Given the description of an element on the screen output the (x, y) to click on. 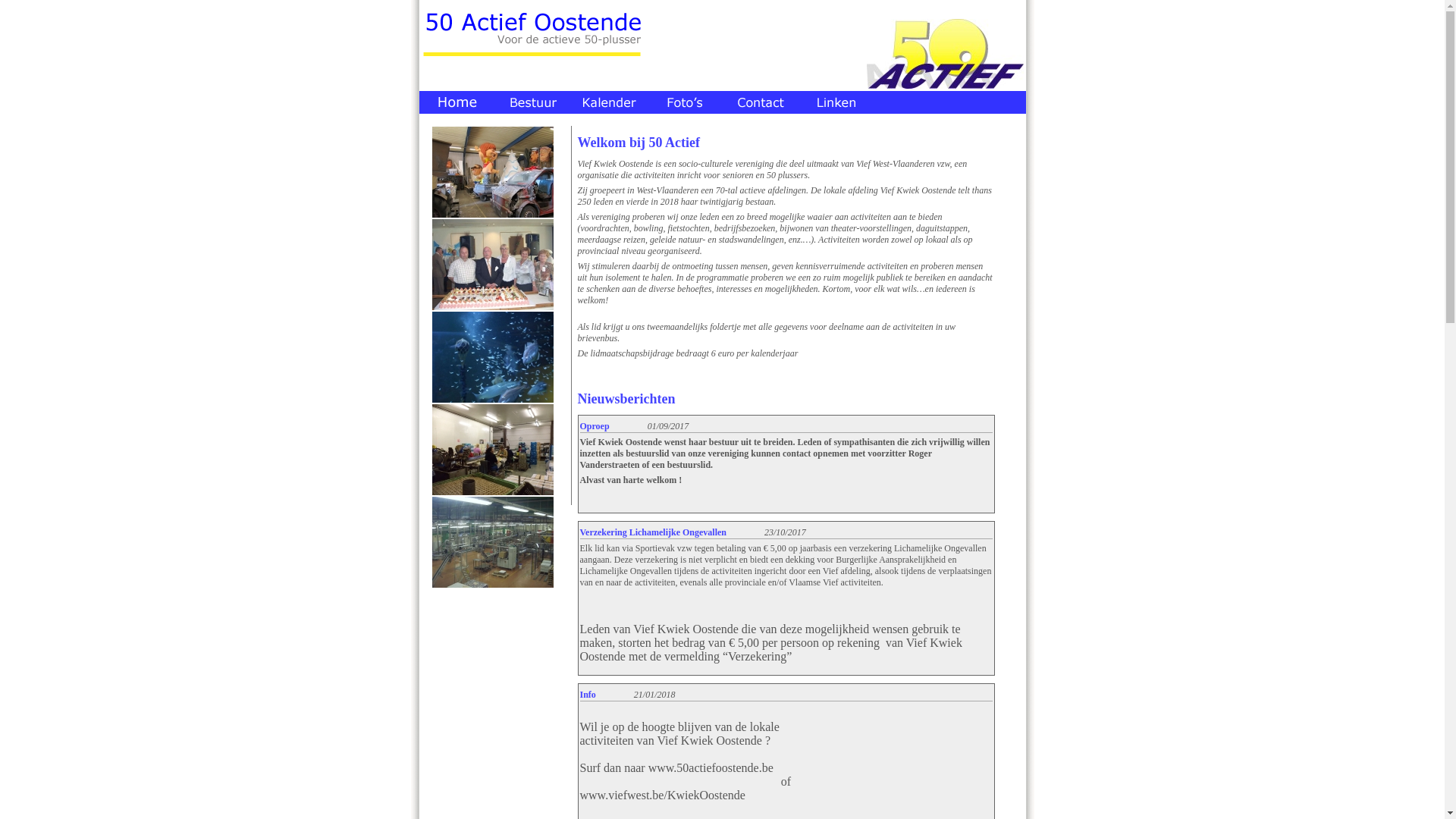
  Element type: text (683, 102)
  Element type: text (759, 102)
  Element type: text (532, 102)
  Element type: text (456, 102)
  Element type: text (835, 102)
  Element type: text (608, 102)
